Given the description of an element on the screen output the (x, y) to click on. 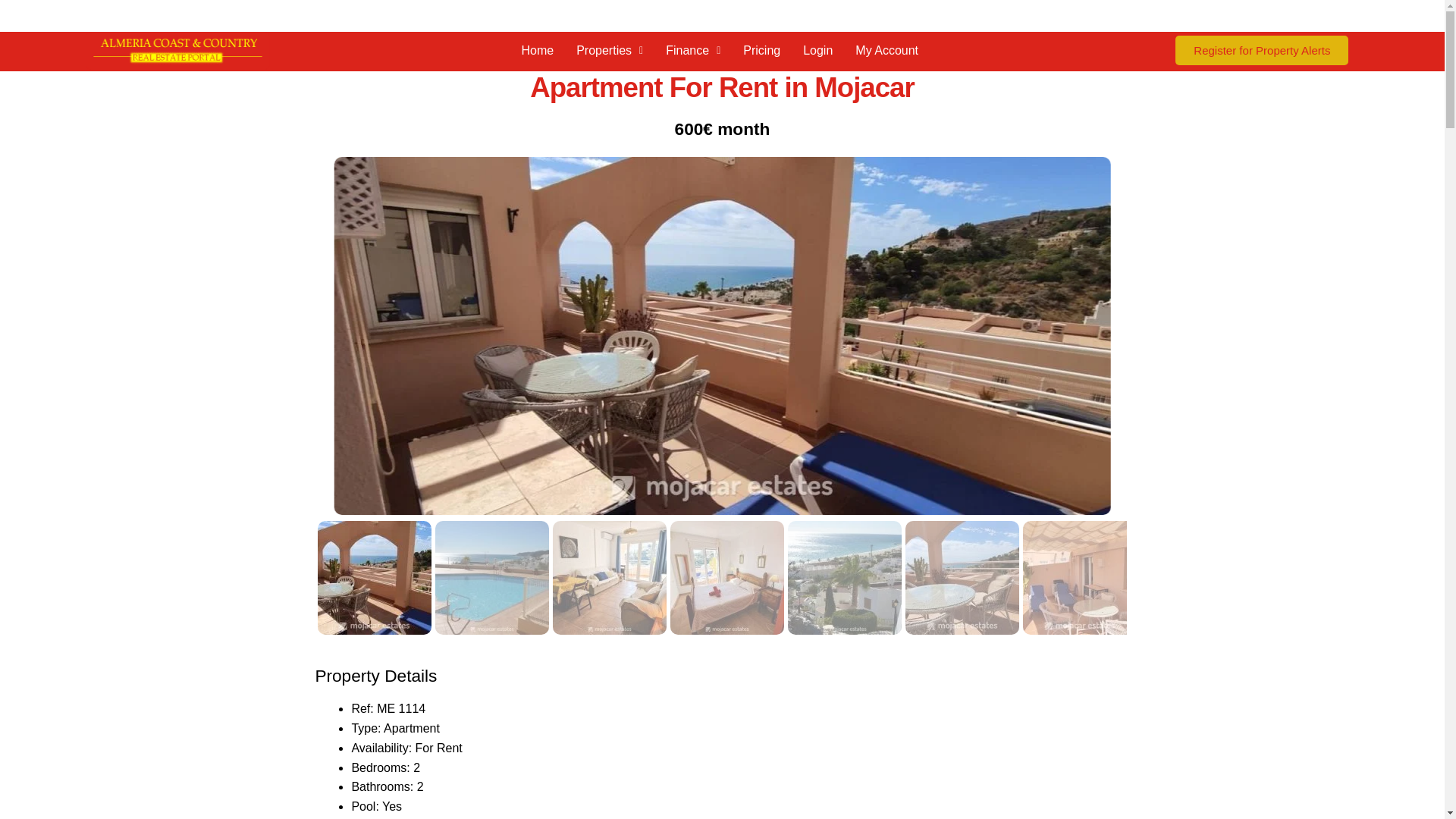
Properties (608, 50)
Home (536, 50)
